Given the description of an element on the screen output the (x, y) to click on. 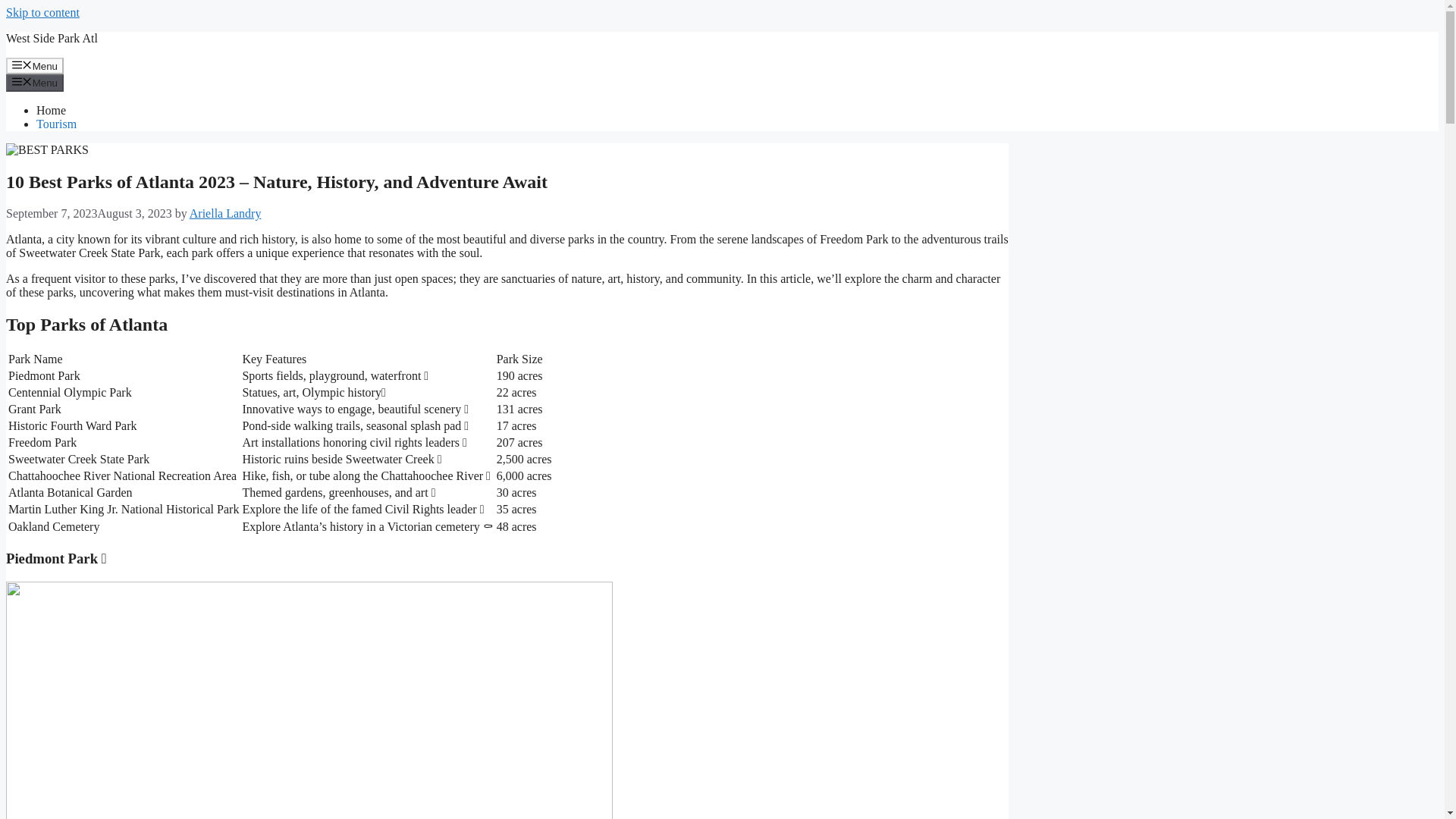
West Side Park Atl (51, 38)
Menu (34, 65)
Ariella Landry (225, 213)
Tourism (56, 123)
Skip to content (42, 11)
Home (50, 110)
View all posts by Ariella Landry (225, 213)
Skip to content (42, 11)
Menu (34, 82)
